Given the description of an element on the screen output the (x, y) to click on. 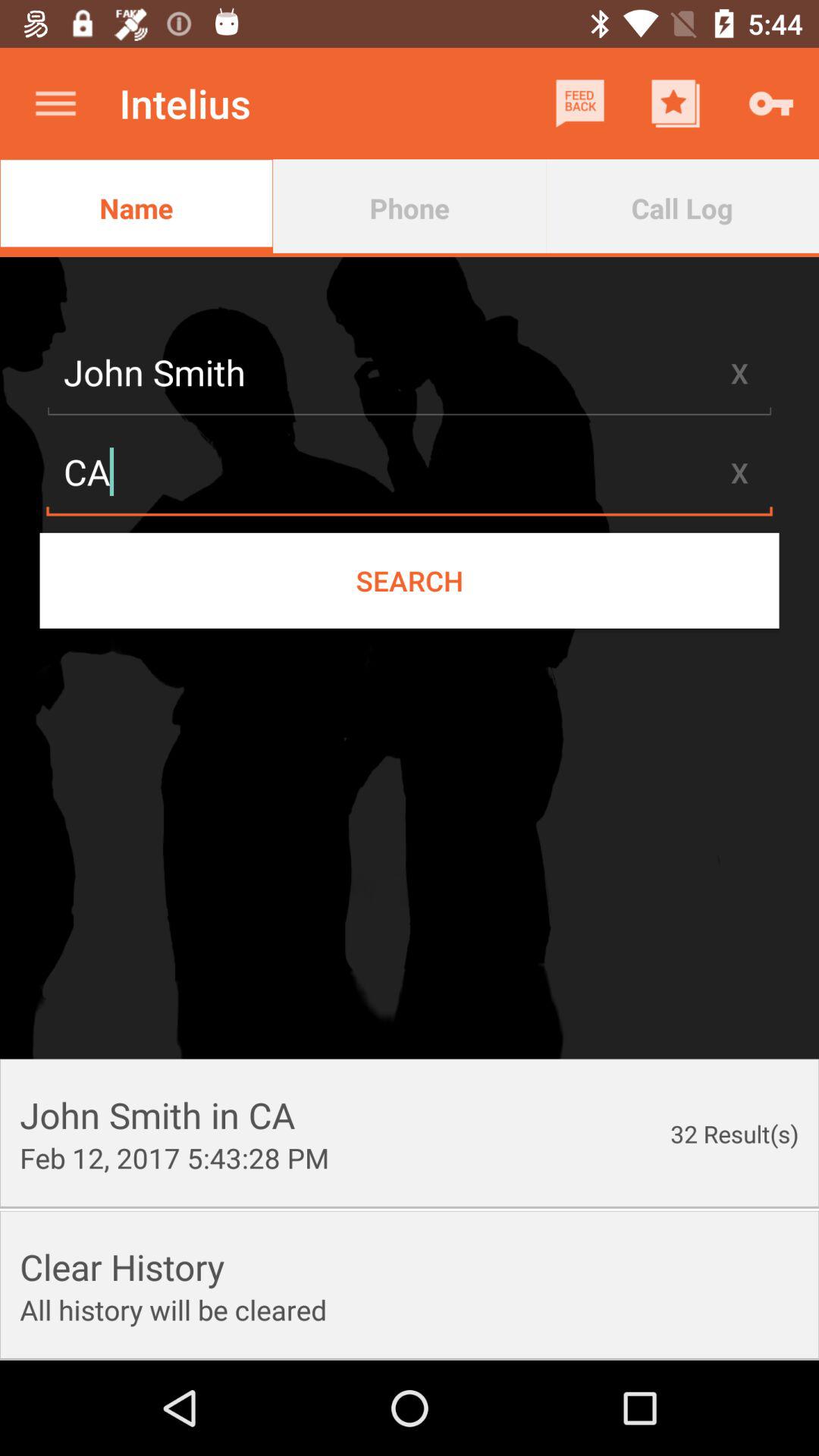
click icon next to the intelius item (579, 103)
